Given the description of an element on the screen output the (x, y) to click on. 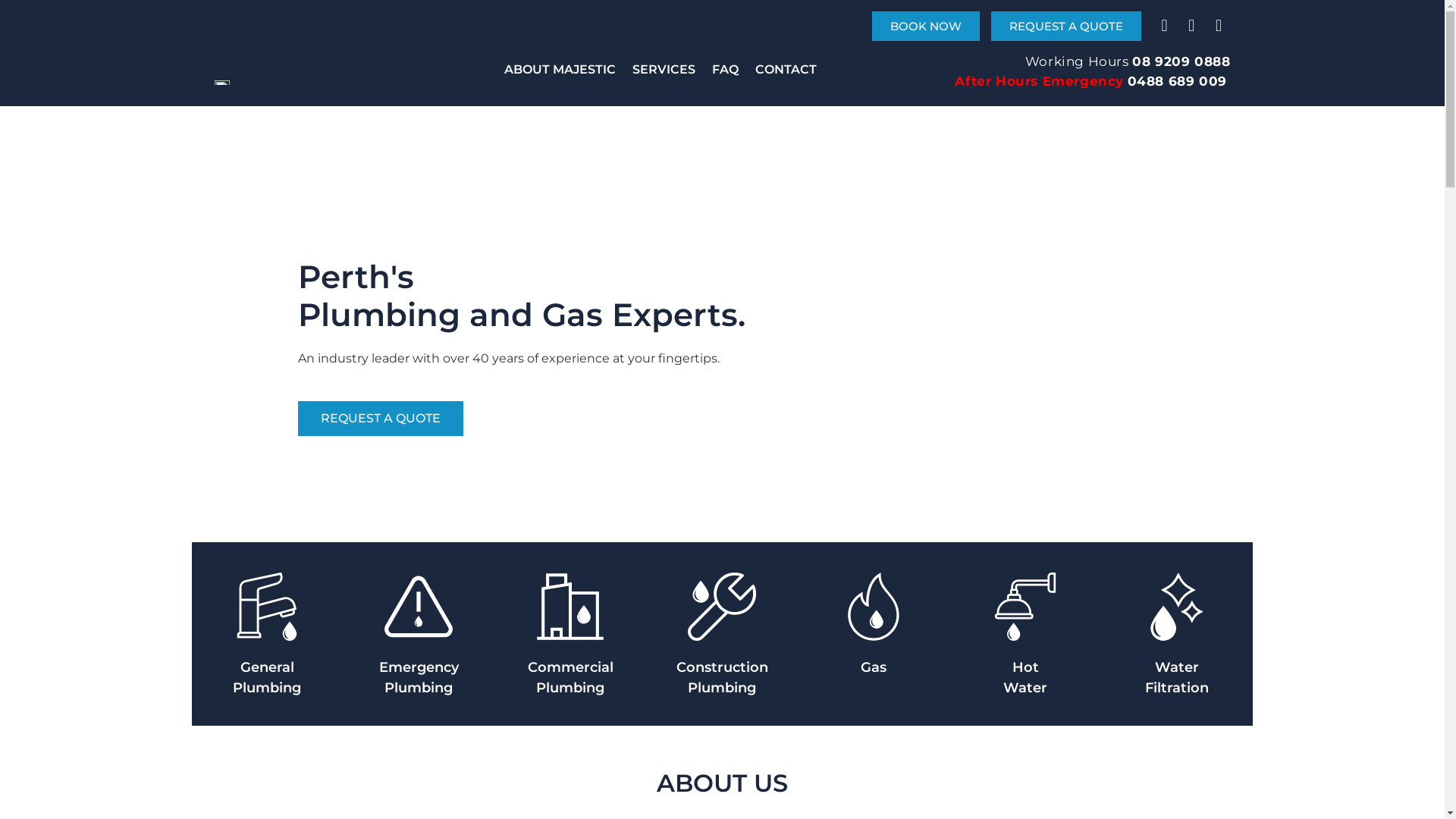
SERVICES Element type: text (663, 69)
Construction
Plumbing Element type: text (722, 677)
REQUEST A QUOTE Element type: text (379, 418)
Hot
Water Element type: text (1025, 677)
Water
Filtration Element type: text (1176, 677)
ABOUT MAJESTIC Element type: text (559, 69)
08 9209 0888 Element type: text (1181, 61)
Gas Element type: text (873, 666)
Commercial
Plumbing Element type: text (570, 677)
BOOK NOW Element type: text (925, 25)
Emergency
Plumbing Element type: text (418, 677)
FAQ Element type: text (724, 69)
0488 689 009 Element type: text (1176, 79)
CONTACT Element type: text (785, 69)
REQUEST A QUOTE Element type: text (1066, 25)
General
Plumbing Element type: text (266, 677)
